Given the description of an element on the screen output the (x, y) to click on. 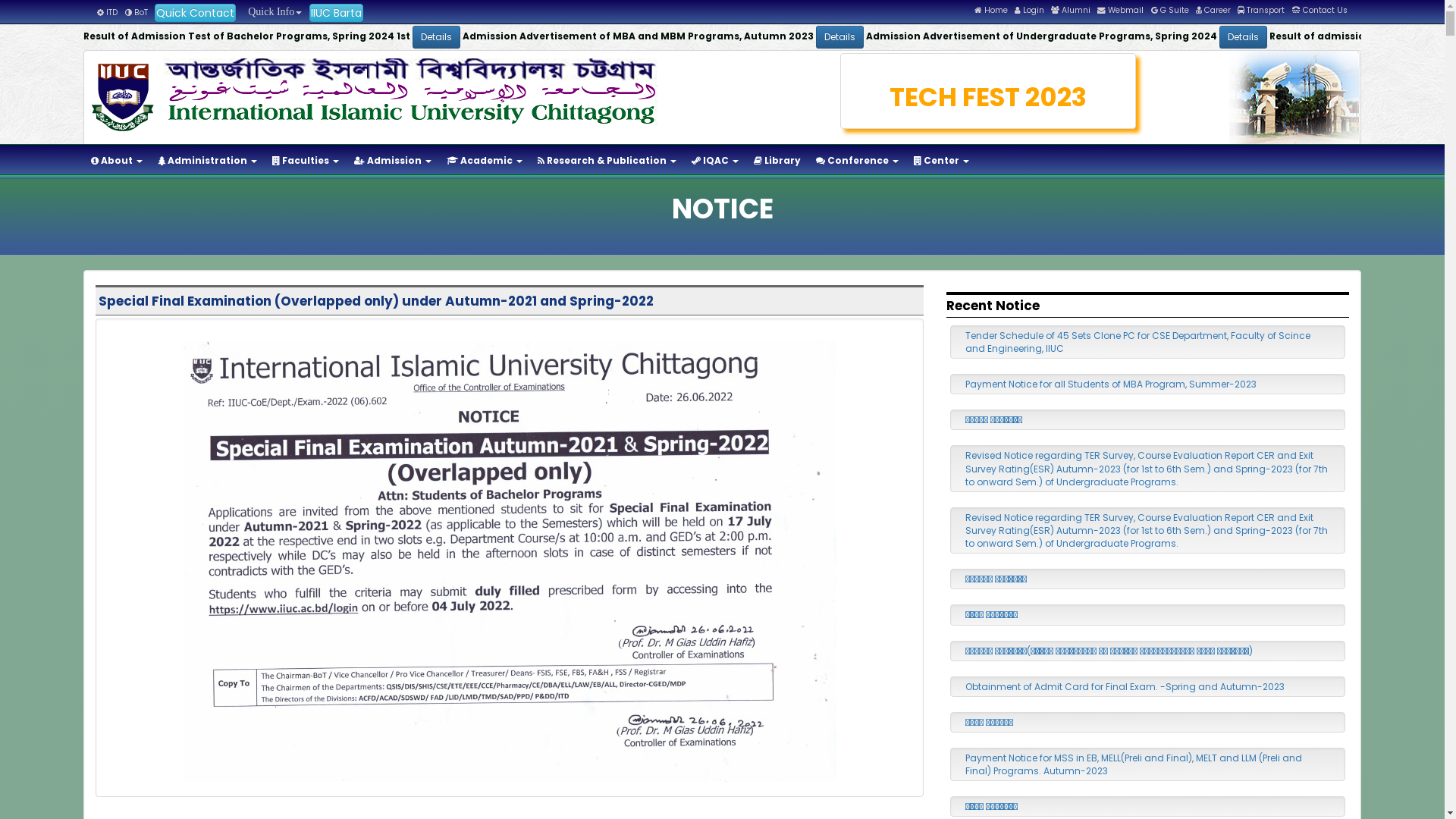
IQAC Element type: text (715, 160)
Administration Element type: text (207, 160)
ITD Element type: text (107, 12)
Research & Publication Element type: text (607, 160)
Login Element type: text (1029, 9)
  Quick Info Element type: text (271, 11)
Payment Notice for all Students of MBA Program, Summer-2023 Element type: text (1110, 383)
About Element type: text (116, 160)
TECH FEST 2023 Element type: text (988, 97)
Alumni Element type: text (1070, 9)
Career Element type: text (1212, 9)
Academic Element type: text (484, 160)
Admission Element type: text (392, 160)
Center Element type: text (941, 160)
Webmail Element type: text (1120, 9)
IIUC Barta Element type: text (336, 12)
Home Element type: text (990, 9)
Details Element type: text (350, 36)
Faculties Element type: text (305, 160)
G Suite Element type: text (1170, 9)
Details Element type: text (1125, 36)
Contact Us Element type: text (1319, 9)
Transport Element type: text (1260, 9)
Conference Element type: text (857, 160)
Quick Contact Element type: text (194, 12)
BoT Element type: text (136, 12)
Details Element type: text (751, 36)
Library Element type: text (777, 160)
